Given the description of an element on the screen output the (x, y) to click on. 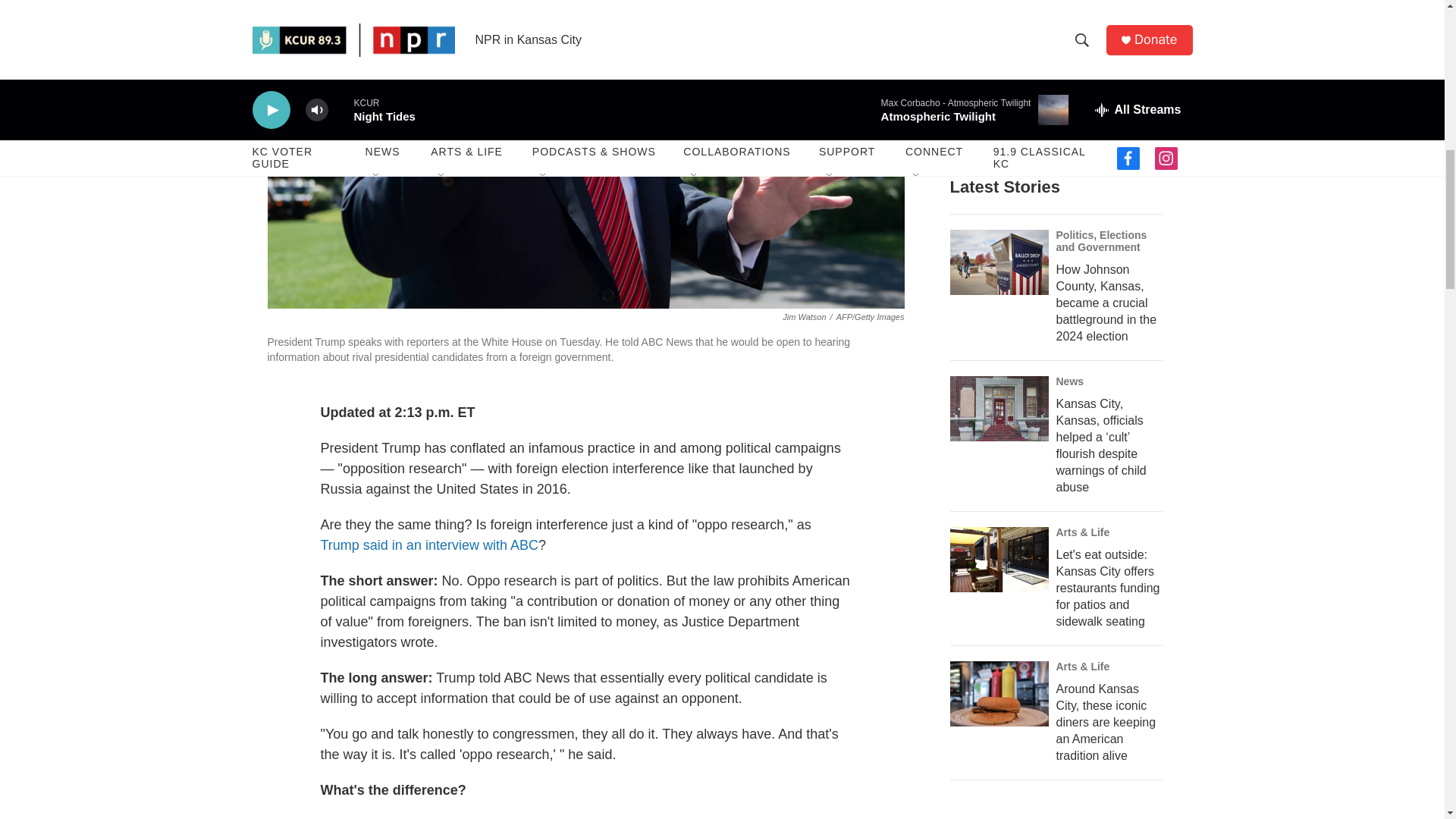
3rd party ad content (1063, 814)
